Given the description of an element on the screen output the (x, y) to click on. 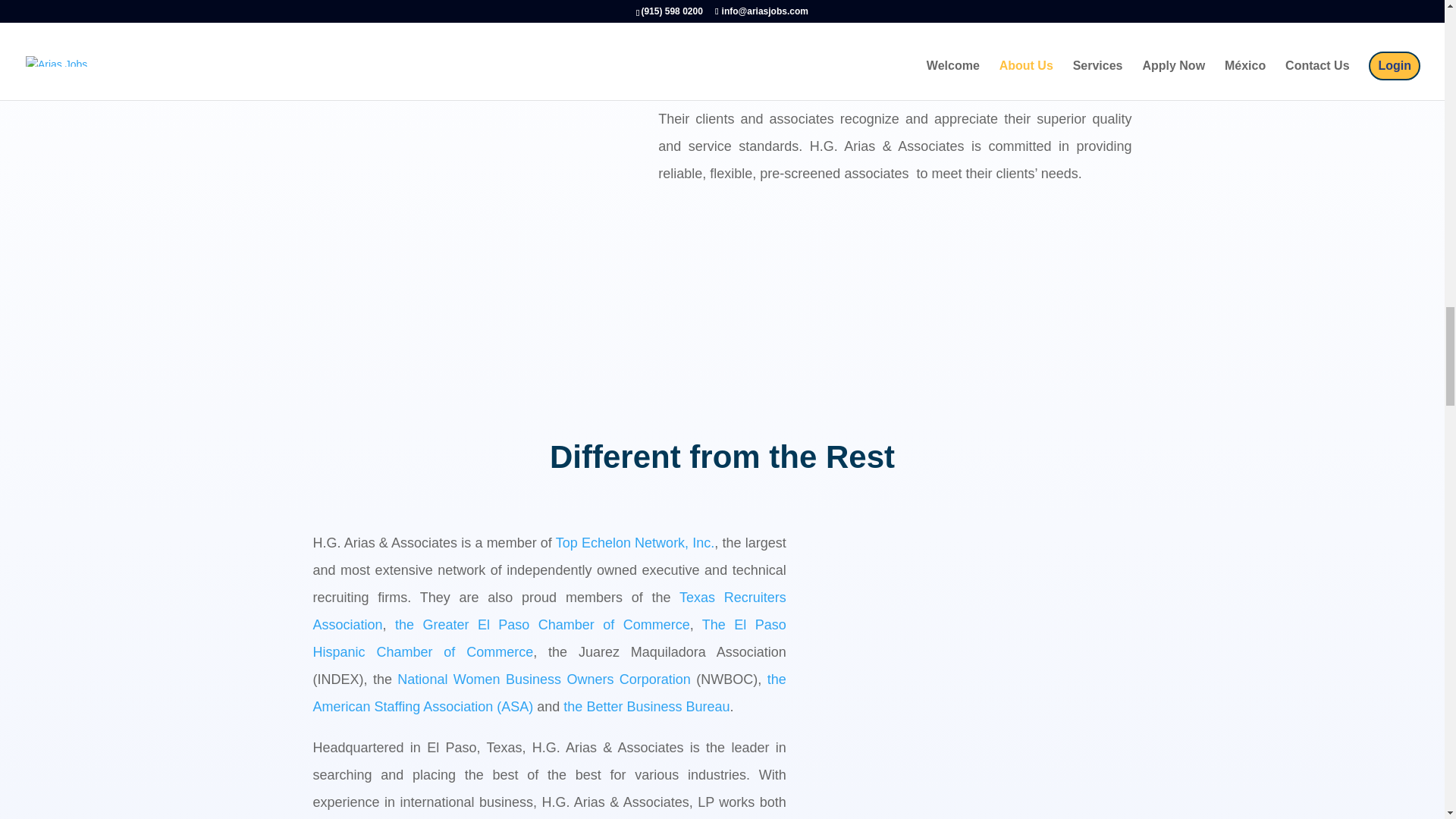
the Greater El Paso Chamber of Commerce (542, 624)
the Better Business Bureau (646, 706)
National Women Business Owners Corporation (543, 679)
Top Echelon Network, Inc. (635, 542)
The El Paso Hispanic Chamber of Commerce (549, 638)
Texas Recruiters Association (549, 610)
